Given the description of an element on the screen output the (x, y) to click on. 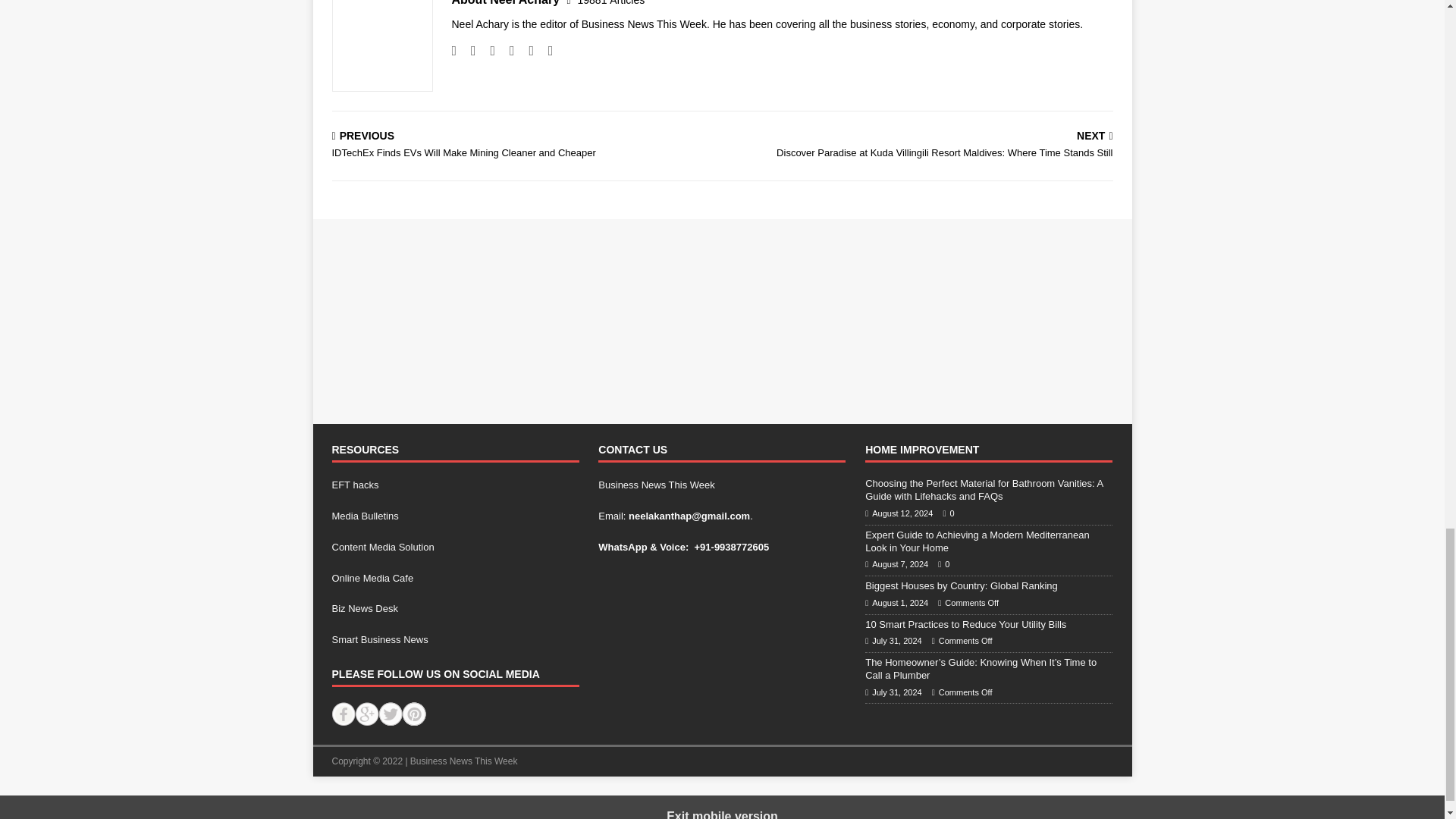
More articles written by Neel Achary' (611, 2)
Follow Neel Achary on Facebook (468, 50)
Follow Neel Achary on Instagram (487, 50)
